Given the description of an element on the screen output the (x, y) to click on. 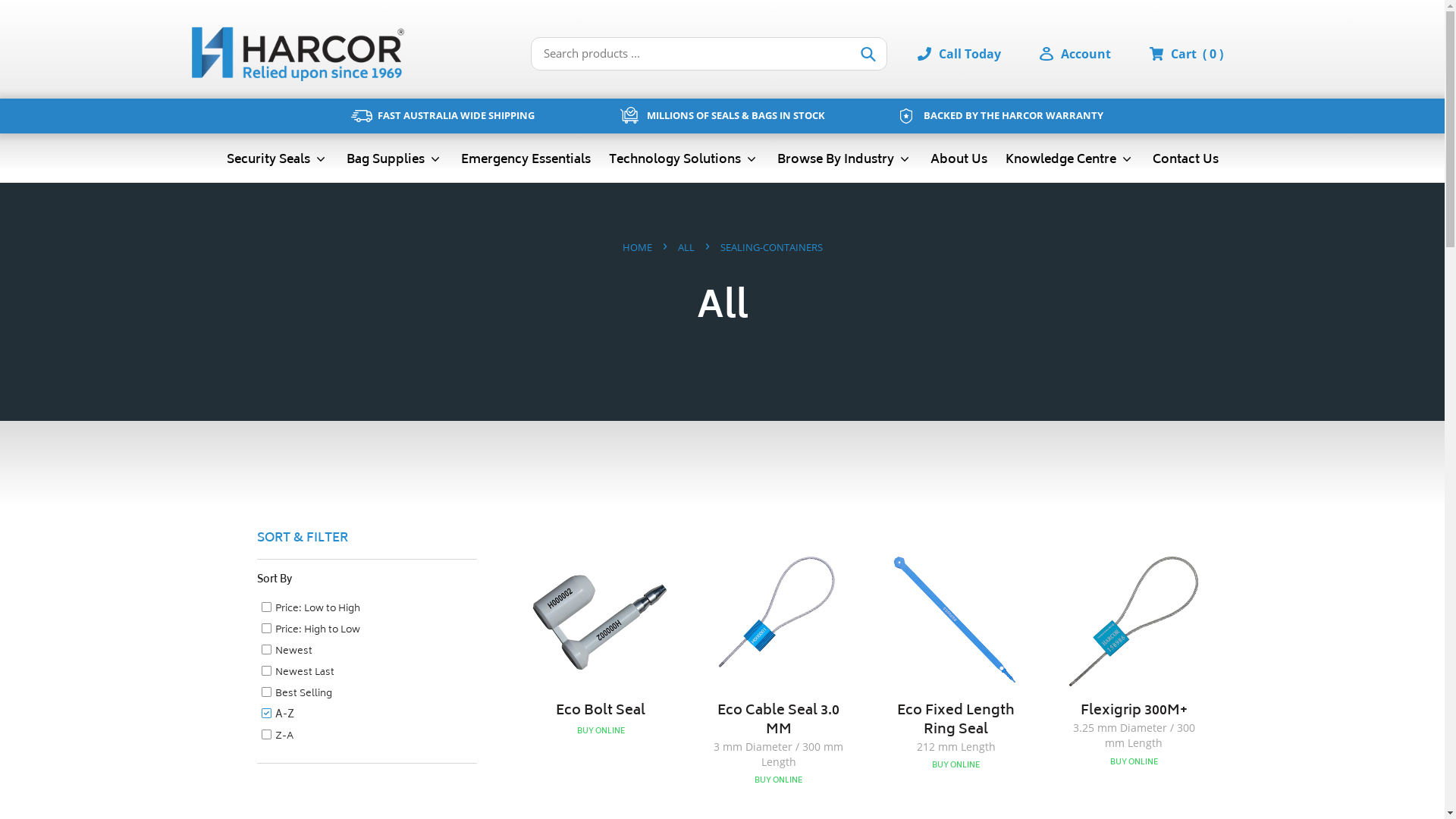
Submit Element type: text (868, 53)
FAST AUSTRALIA WIDE SHIPPING Element type: text (442, 116)
About Us Element type: text (957, 159)
Flexigrip 300M+ Element type: text (1133, 660)
Price: Low to High Element type: text (309, 609)
Eco Bolt Seal Element type: text (600, 645)
Contact Us Element type: text (1185, 159)
Cart
  ( 0 ) Element type: text (1196, 53)
Best Selling Element type: text (295, 694)
BACKED BY THE HARCOR WARRANTY Element type: text (1001, 116)
Price: High to Low Element type: text (309, 630)
Z-A Element type: text (276, 736)
ALL Element type: text (685, 247)
Newest Element type: text (285, 651)
HOME Element type: text (636, 247)
Eco Fixed Length Ring Seal Element type: text (955, 662)
MILLIONS OF SEALS & BAGS IN STOCK Element type: text (721, 116)
Eco Cable Seal 3.0 MM Element type: text (777, 670)
A-Z Element type: text (276, 715)
Emergency Essentials Element type: text (525, 159)
Newest Last Element type: text (296, 673)
Call Today Element type: text (974, 53)
Account Element type: text (1086, 53)
